Given the description of an element on the screen output the (x, y) to click on. 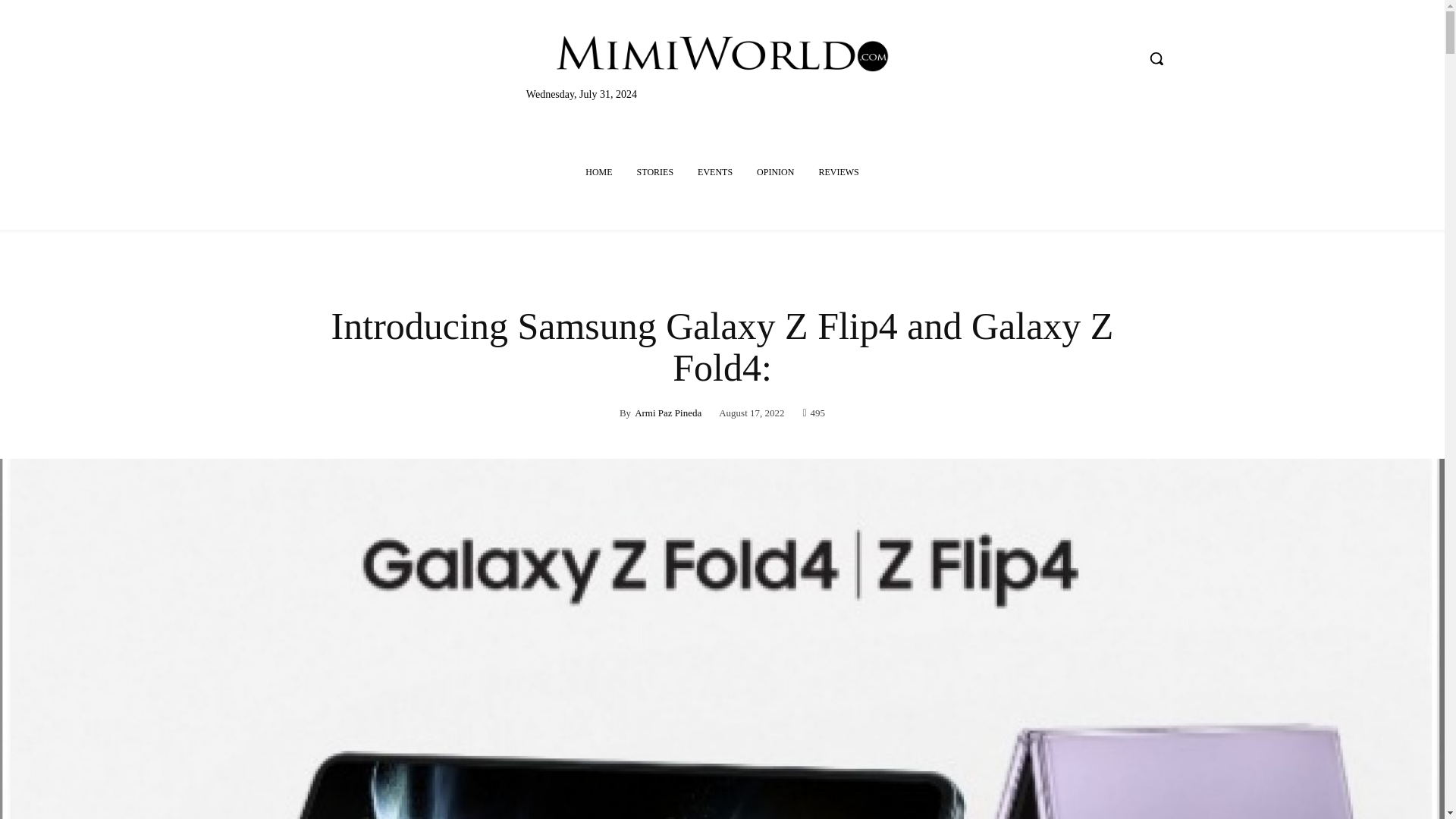
STORIES (654, 172)
HOME (598, 172)
OPINION (775, 172)
EVENTS (714, 172)
REVIEWS (838, 172)
Armi Paz Pineda (667, 412)
